Given the description of an element on the screen output the (x, y) to click on. 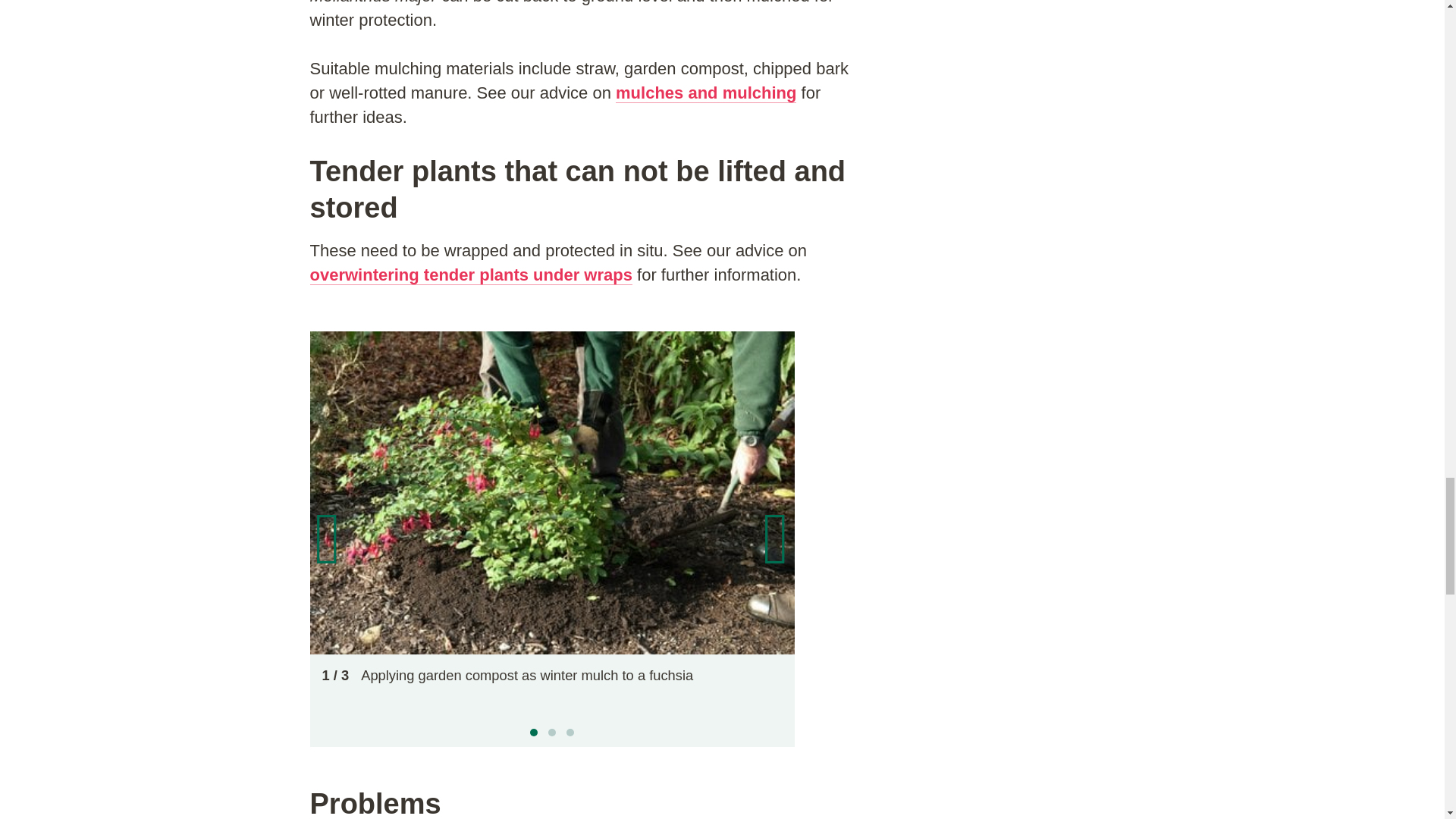
Link to advice on mulches and mulching (705, 93)
Link to advice on overwintering tender plants by wrapping (469, 275)
